Given the description of an element on the screen output the (x, y) to click on. 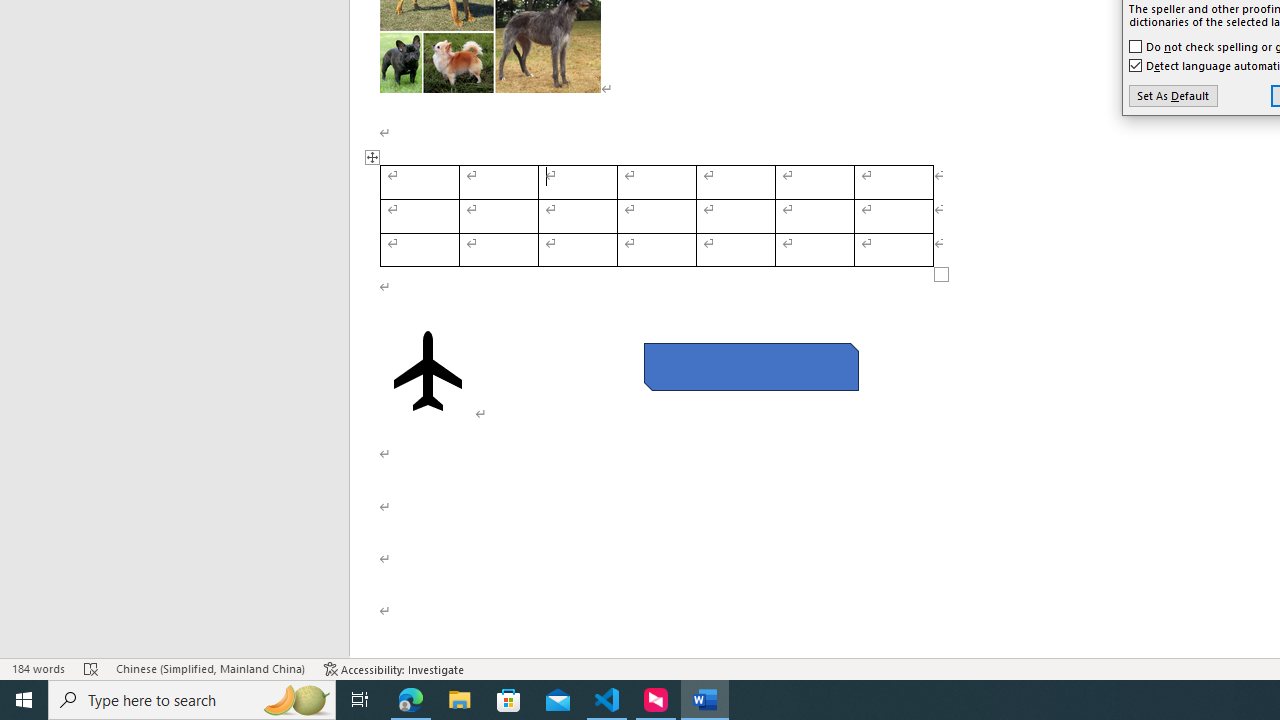
File Explorer (460, 699)
Set As Default (1172, 96)
Word Count 184 words (37, 668)
